Given the description of an element on the screen output the (x, y) to click on. 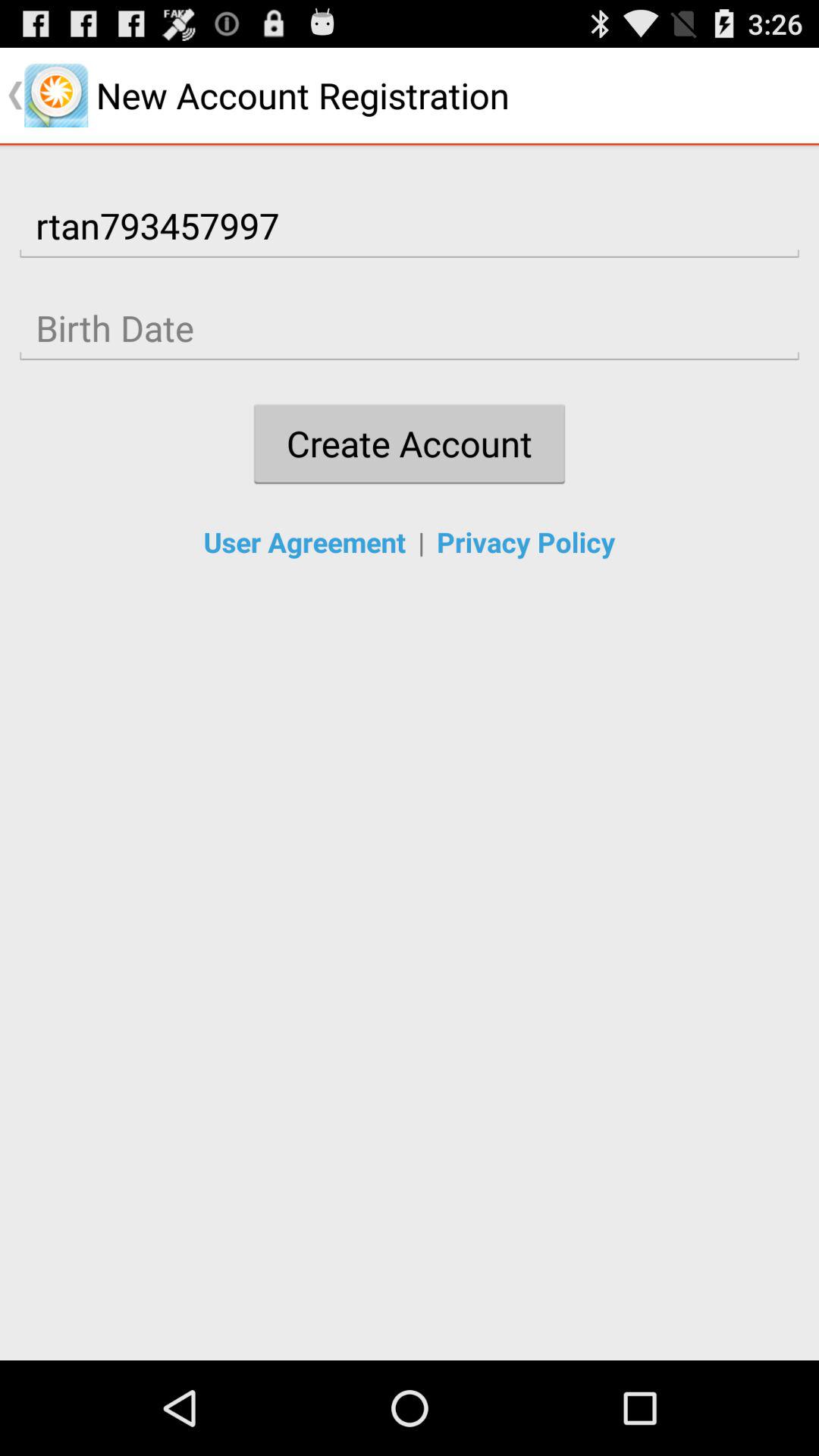
birth date input field (409, 328)
